Given the description of an element on the screen output the (x, y) to click on. 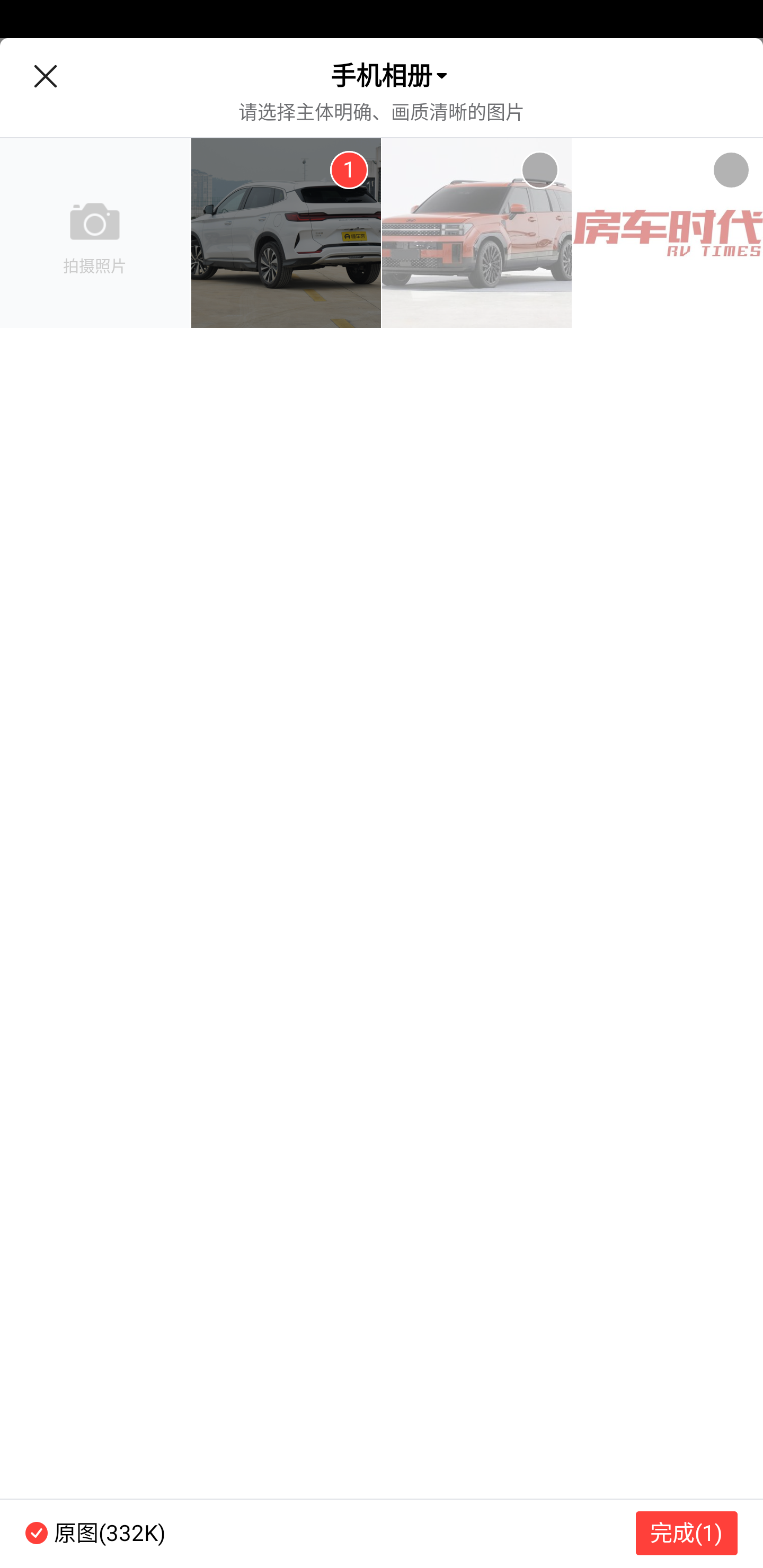
返回 (44, 75)
手机相册 (381, 75)
拍摄照片 (94, 232)
图片1 (285, 232)
已选中1 1 (348, 169)
图片2 (476, 232)
未选中 (539, 169)
图片3 (668, 232)
未选中 (731, 169)
已选中，原图，(332K) 原图 (332K) (82, 1533)
完成(1) 完成 (1) (686, 1533)
